Given the description of an element on the screen output the (x, y) to click on. 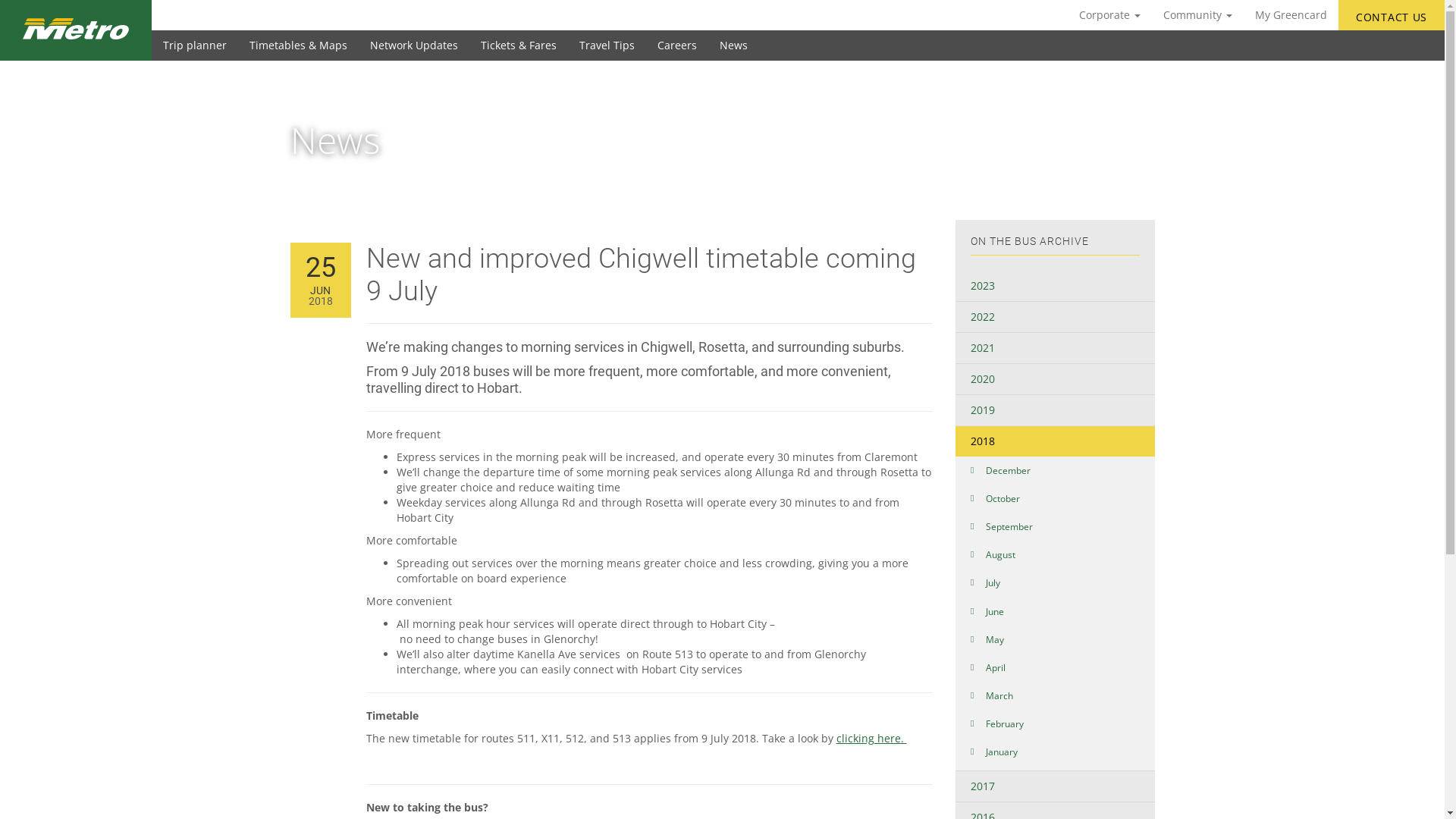
CONTACT US Element type: text (1391, 15)
My Greencard Element type: text (1290, 15)
June Element type: text (1054, 611)
2017 Element type: text (1054, 786)
Trip planner Element type: text (194, 45)
January Element type: text (1054, 751)
Metro Tasmania Element type: text (75, 29)
2018 Element type: text (1054, 441)
Twitter Element type: text (1398, 37)
News Element type: text (426, 174)
Timetables & Maps Element type: text (298, 45)
News Element type: text (733, 45)
Careers Element type: text (677, 45)
2023 Element type: text (1054, 285)
Metro online Element type: text (365, 174)
clicking here.  Element type: text (870, 738)
Home Element type: text (303, 174)
October Element type: text (1054, 498)
Tickets & Fares Element type: text (518, 45)
August Element type: text (1054, 554)
March Element type: text (1054, 695)
2022 Element type: text (1054, 316)
Facebook Element type: text (1383, 37)
Network Updates Element type: text (413, 45)
Community Element type: text (1197, 15)
July Element type: text (1054, 582)
December Element type: text (1054, 470)
May Element type: text (1054, 639)
2020 Element type: text (1054, 379)
April Element type: text (1054, 667)
2019 Element type: text (1054, 410)
Corporate Element type: text (1109, 15)
September Element type: text (1054, 526)
LinkedIn Element type: text (1413, 37)
Travel Tips Element type: text (606, 45)
2021 Element type: text (1054, 347)
February Element type: text (1054, 723)
